Given the description of an element on the screen output the (x, y) to click on. 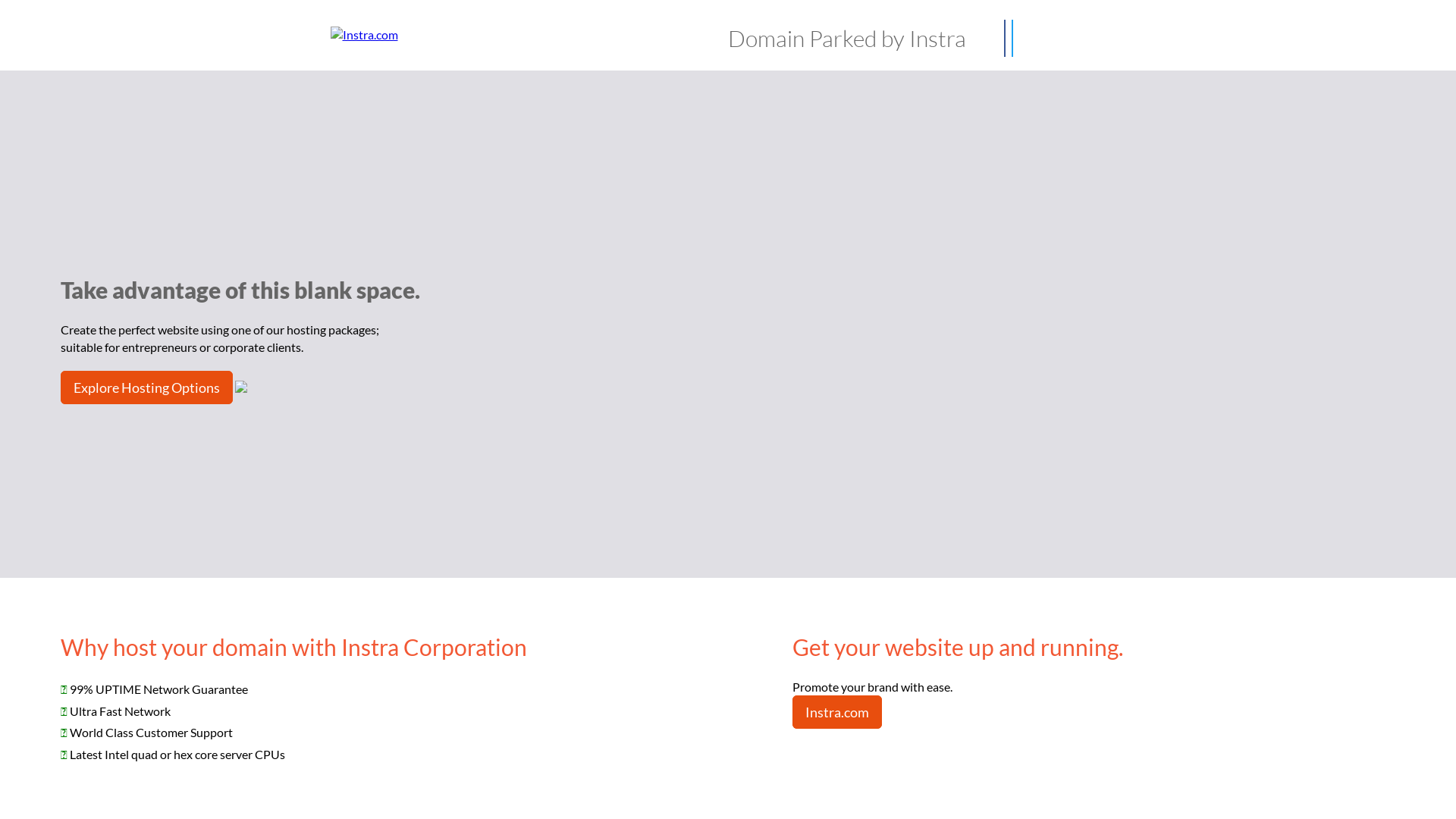
Instra.com Element type: text (836, 711)
Explore Hosting Options Element type: text (146, 387)
